Given the description of an element on the screen output the (x, y) to click on. 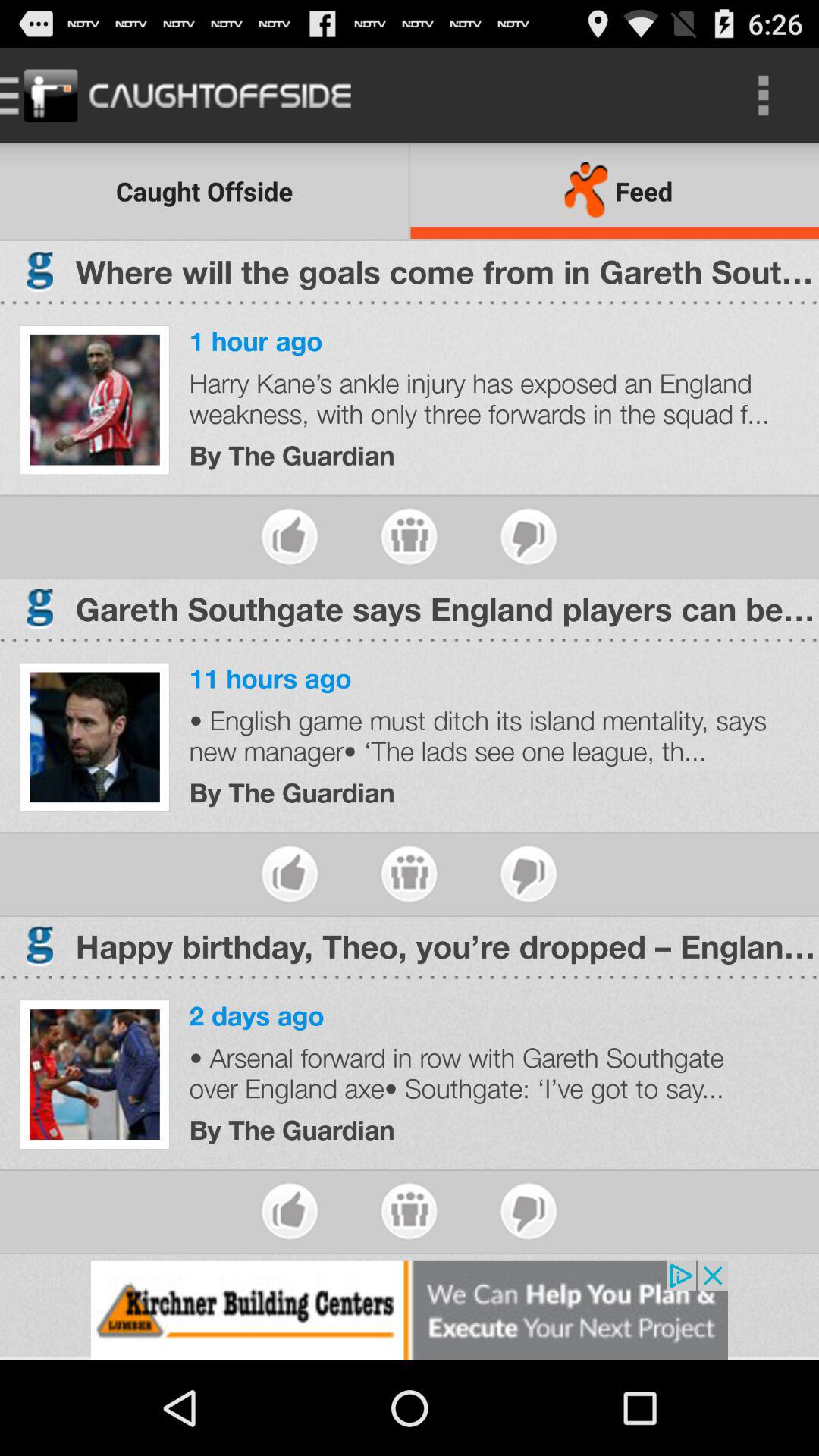
unlike news (528, 873)
